Given the description of an element on the screen output the (x, y) to click on. 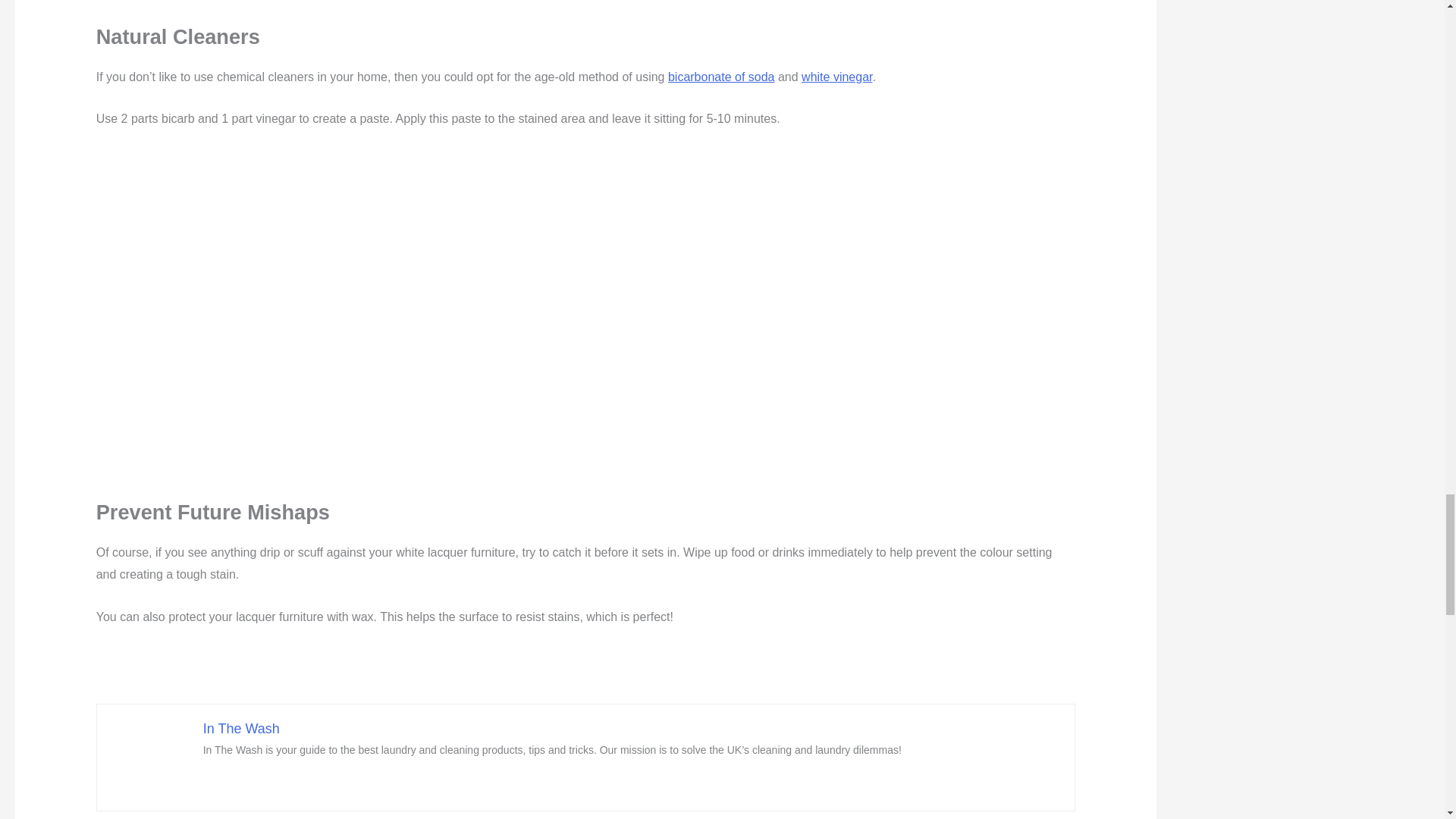
white vinegar (837, 76)
bicarbonate of soda (721, 76)
In The Wash (241, 728)
